Given the description of an element on the screen output the (x, y) to click on. 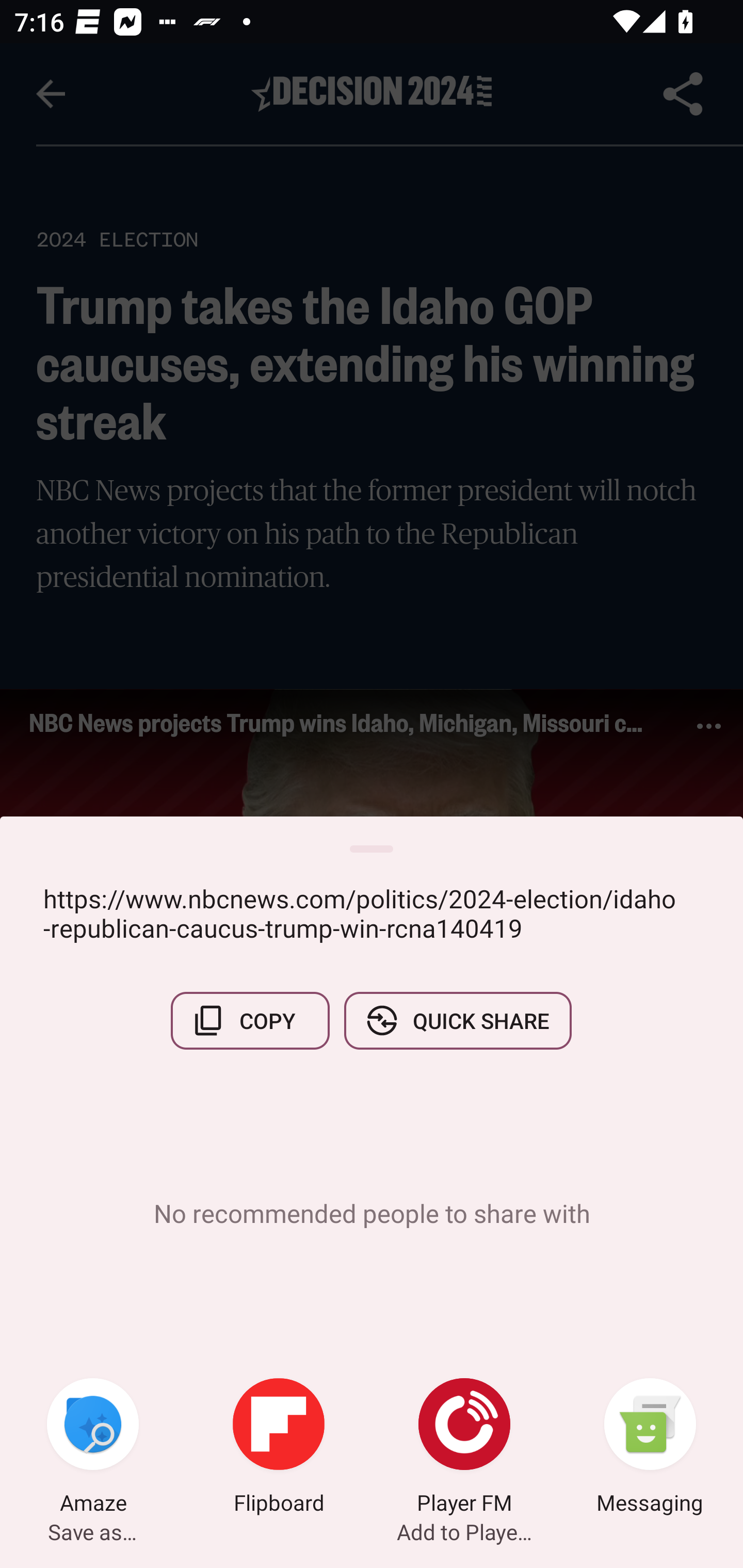
COPY (249, 1020)
QUICK SHARE (457, 1020)
Amaze Save as… (92, 1448)
Flipboard (278, 1448)
Player FM Add to Player FM (464, 1448)
Messaging (650, 1448)
